Given the description of an element on the screen output the (x, y) to click on. 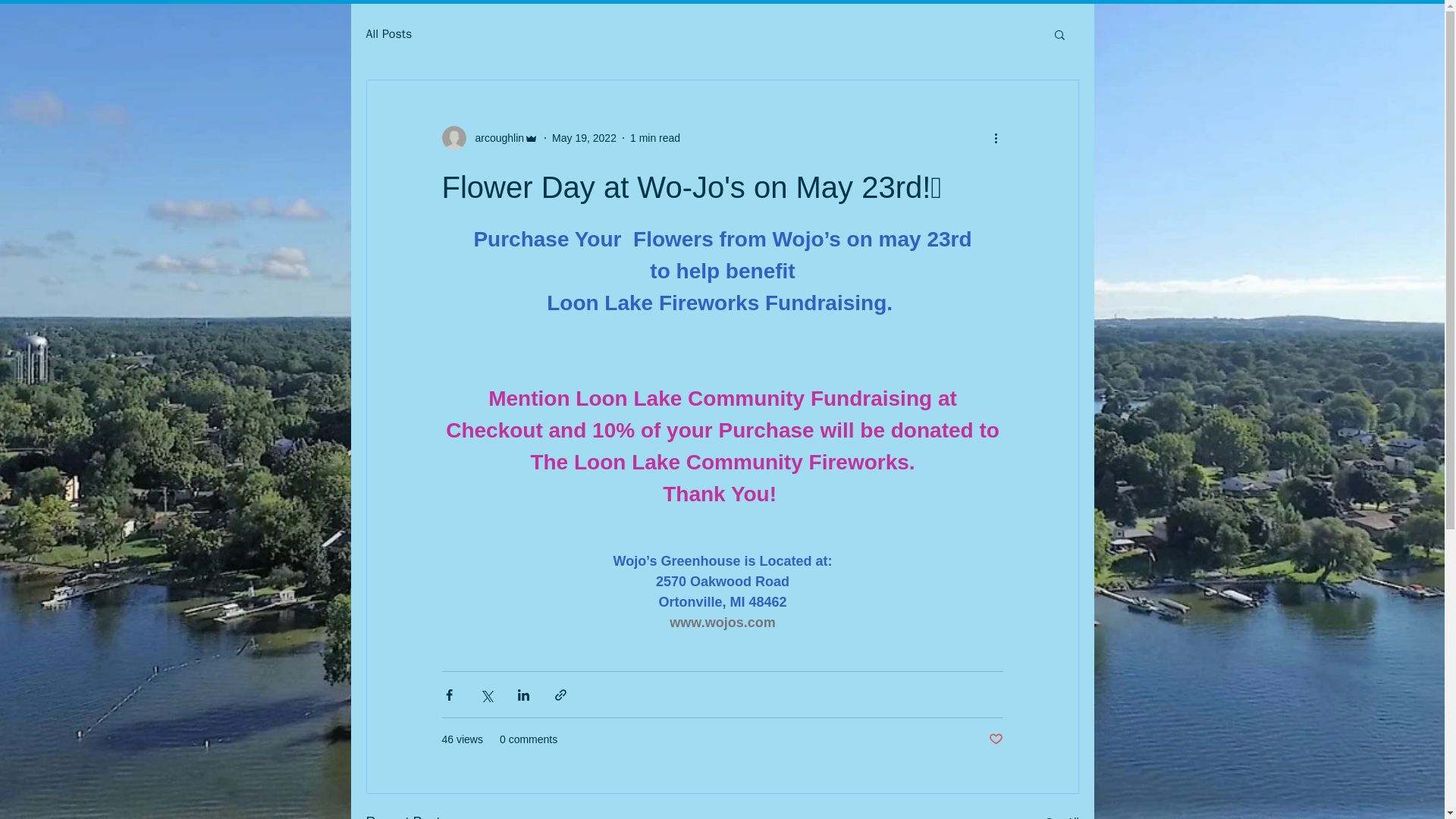
Post not marked as liked (995, 739)
arcoughlin (494, 138)
All Posts (388, 33)
See All (1061, 815)
May 19, 2022 (583, 137)
www.wojos.com (721, 622)
1 min read (654, 137)
